Given the description of an element on the screen output the (x, y) to click on. 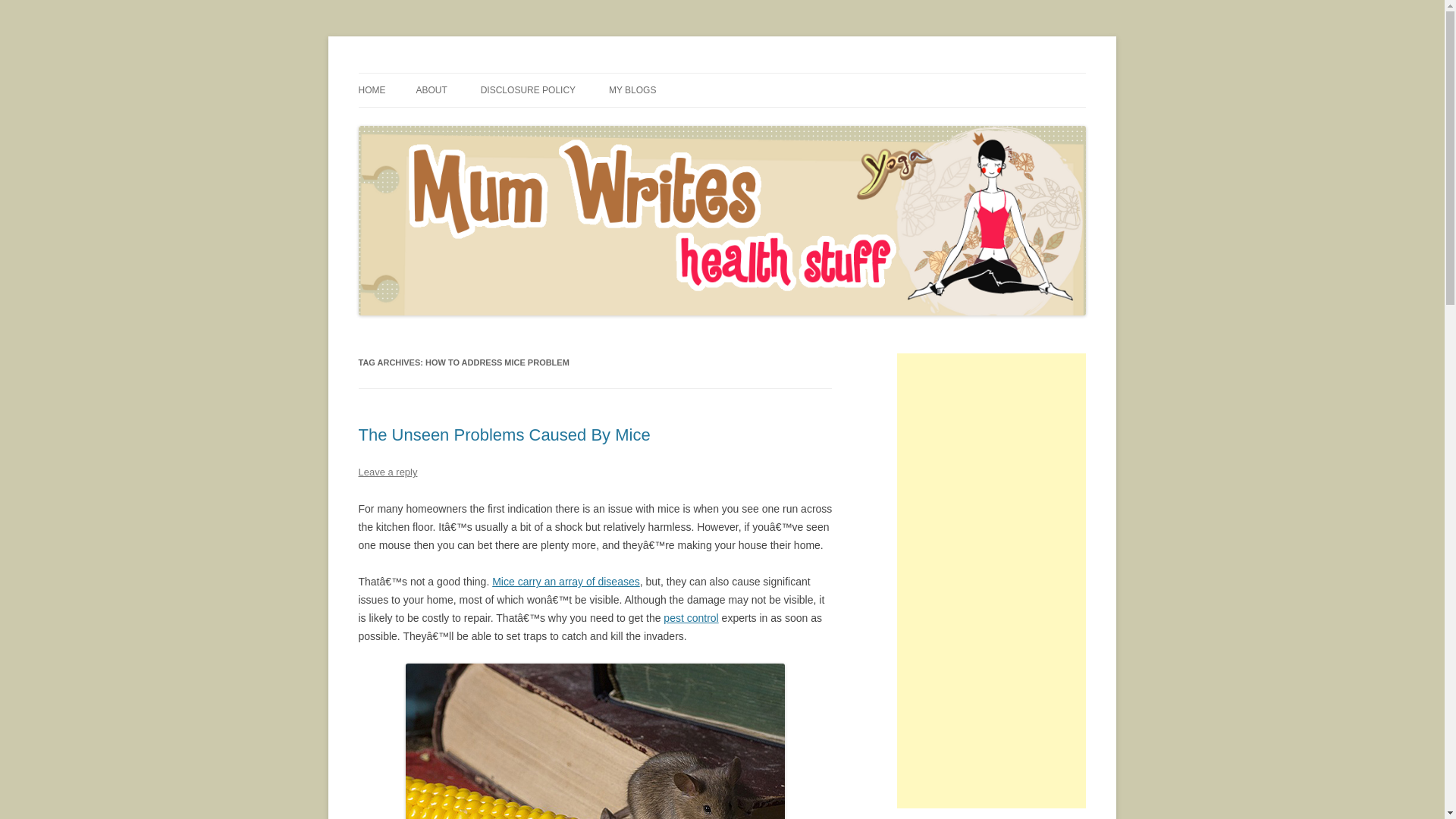
Advertisement (991, 580)
Leave a reply (387, 471)
Mice carry an array of diseases (566, 581)
ABOUT (430, 90)
The Unseen Problems Caused By Mice (503, 434)
MY BLOGS (632, 90)
pest control (690, 617)
HOME (371, 90)
Mum Writes Health Stuff (471, 72)
DISCLOSURE POLICY (527, 90)
